Given the description of an element on the screen output the (x, y) to click on. 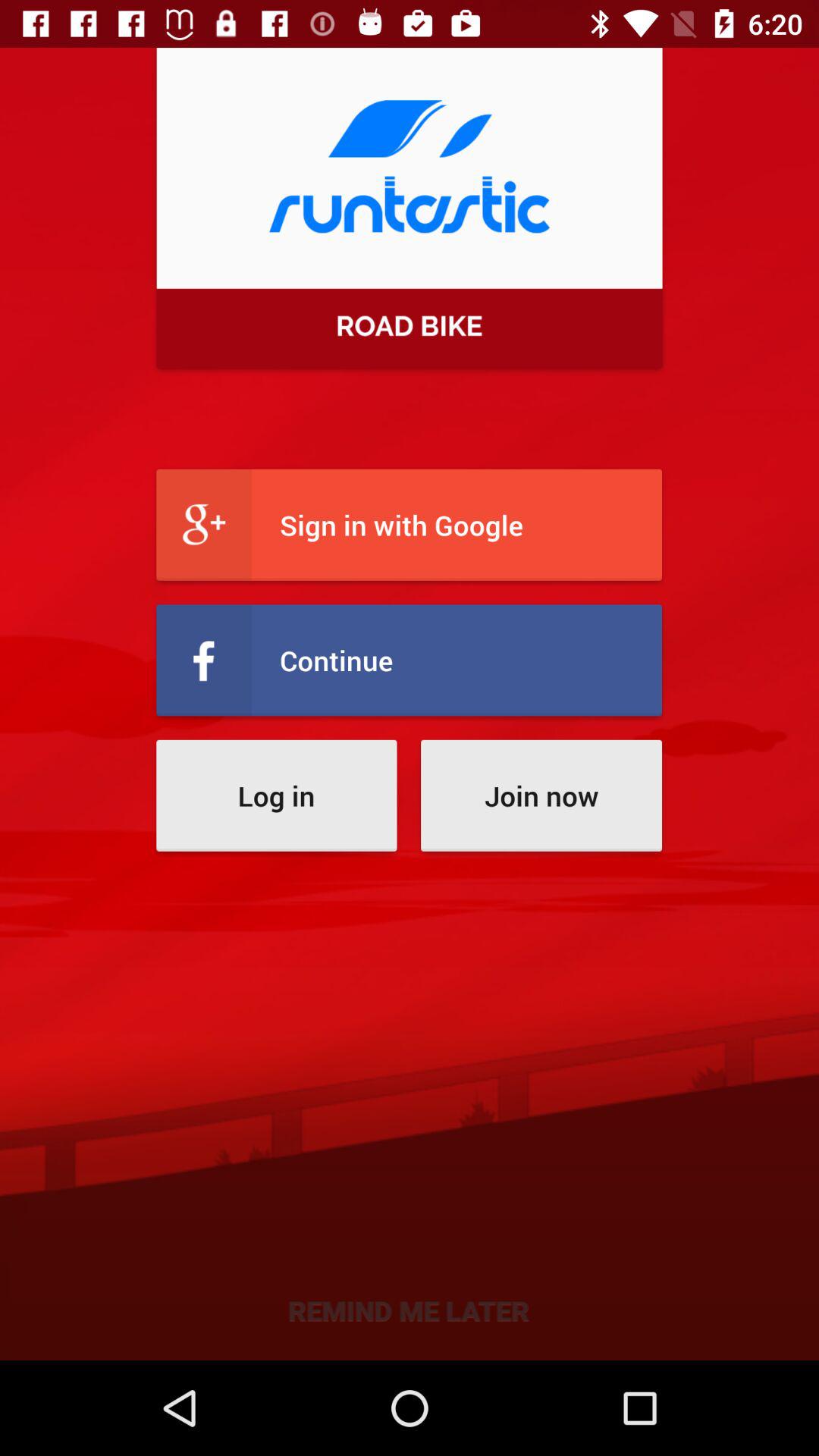
flip to the join now (541, 795)
